Given the description of an element on the screen output the (x, y) to click on. 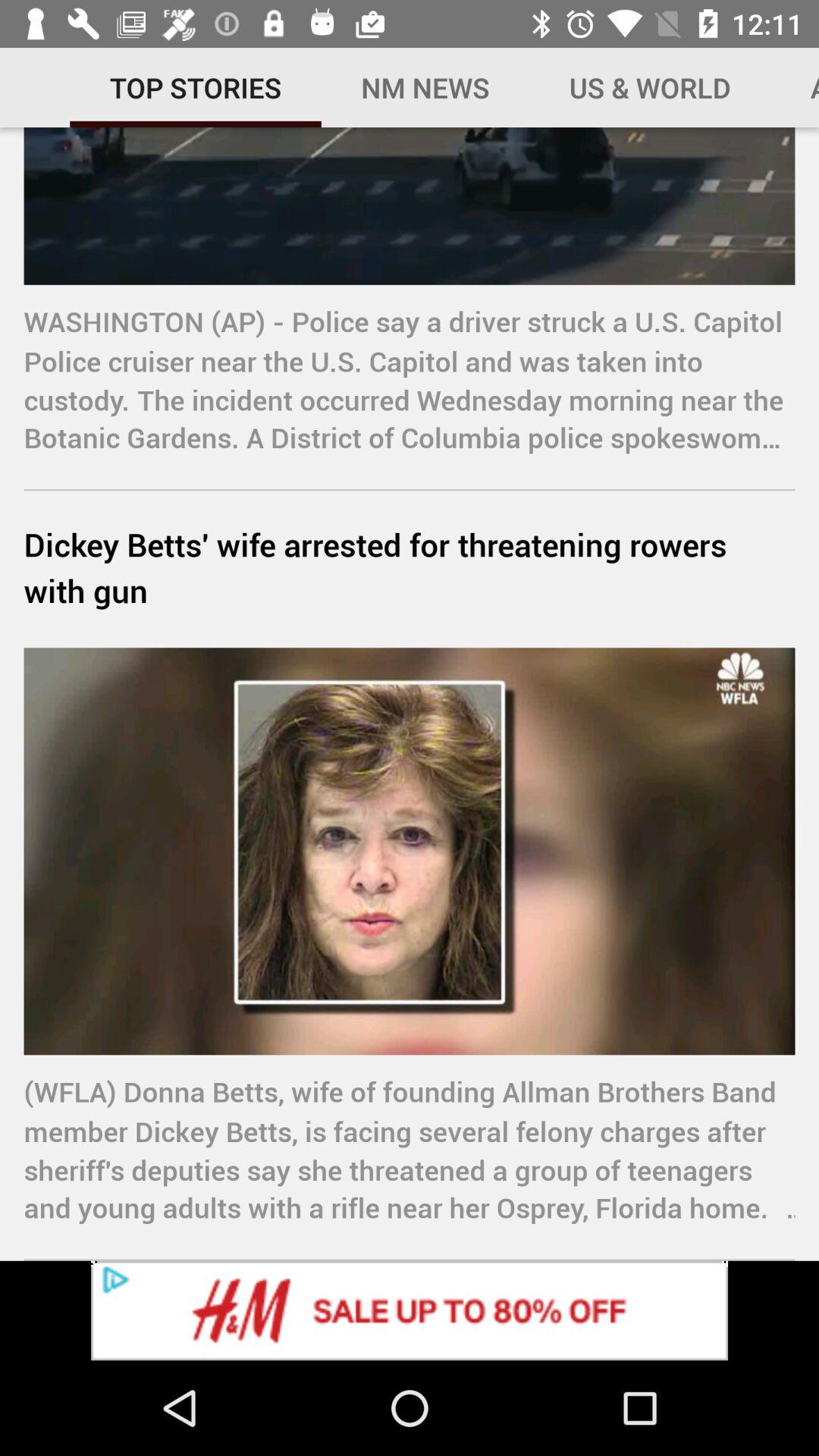
advertisement for h m (409, 1310)
